Given the description of an element on the screen output the (x, y) to click on. 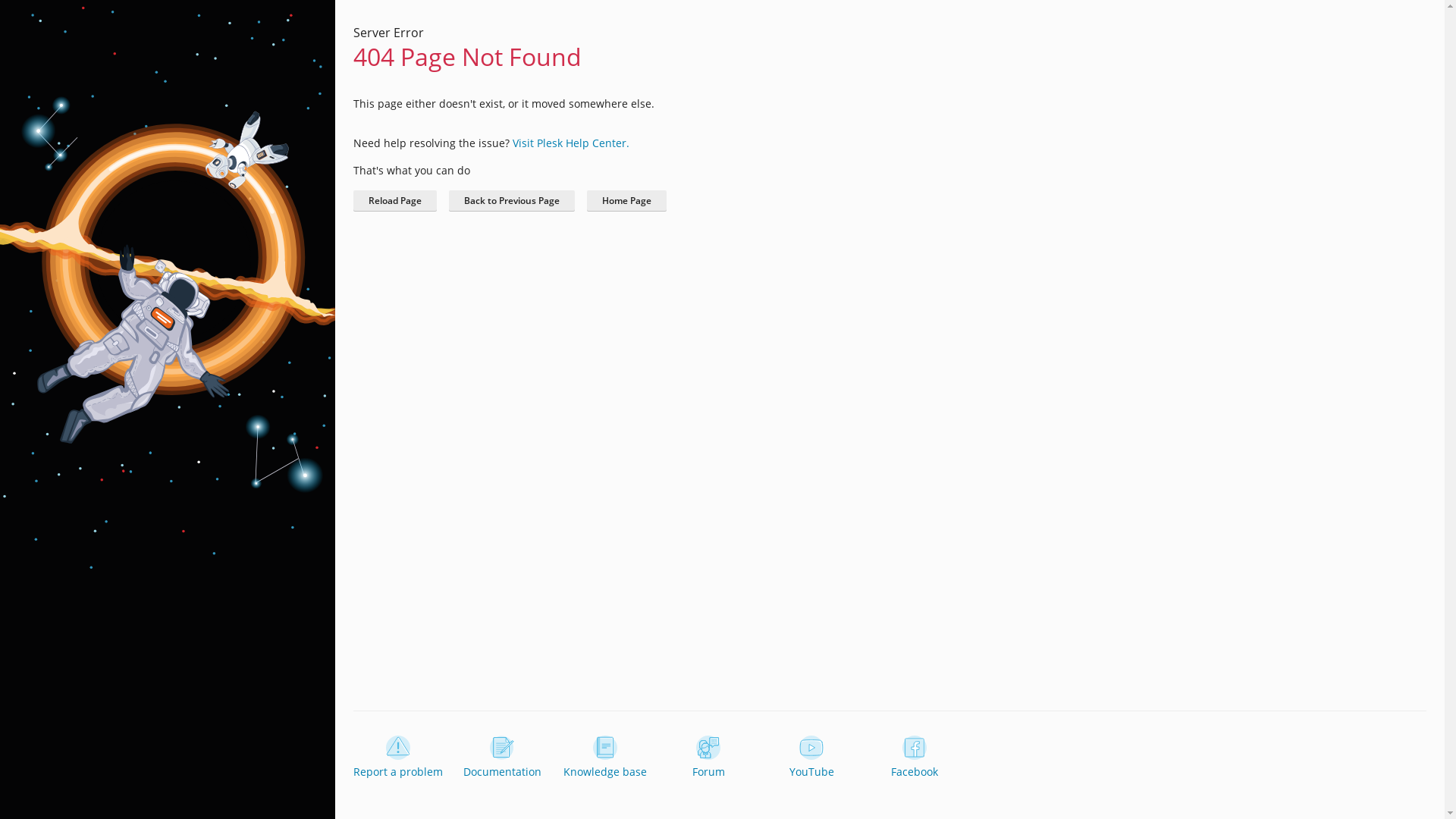
Visit Plesk Help Center. Element type: text (556, 143)
Back to Previous Page Element type: text (514, 200)
Documentation Element type: text (500, 757)
Forum Element type: text (706, 757)
Facebook Element type: text (913, 757)
YouTube Element type: text (809, 757)
Report a problem Element type: text (397, 757)
Home Page Element type: text (630, 200)
Knowledge base Element type: text (603, 757)
Reload Page Element type: text (395, 200)
